Given the description of an element on the screen output the (x, y) to click on. 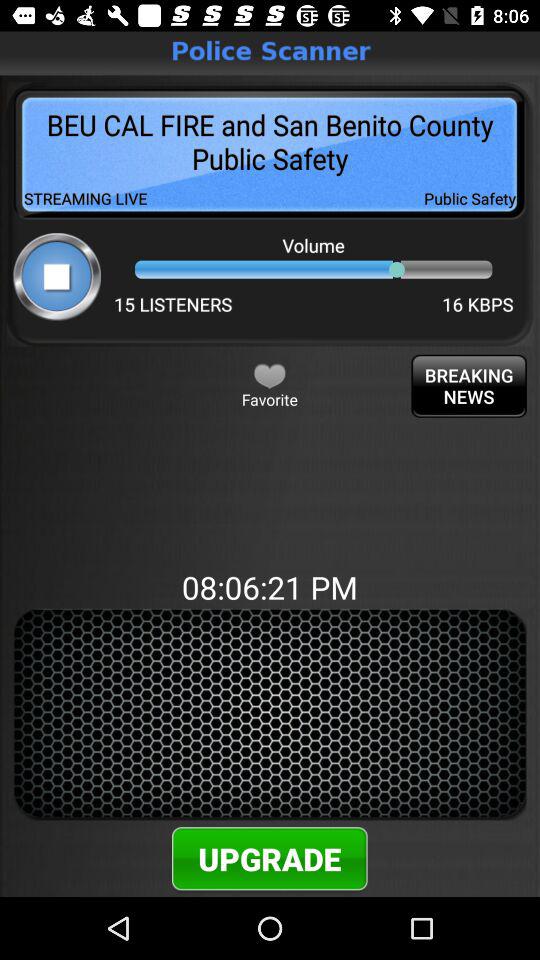
stop feed (56, 276)
